Given the description of an element on the screen output the (x, y) to click on. 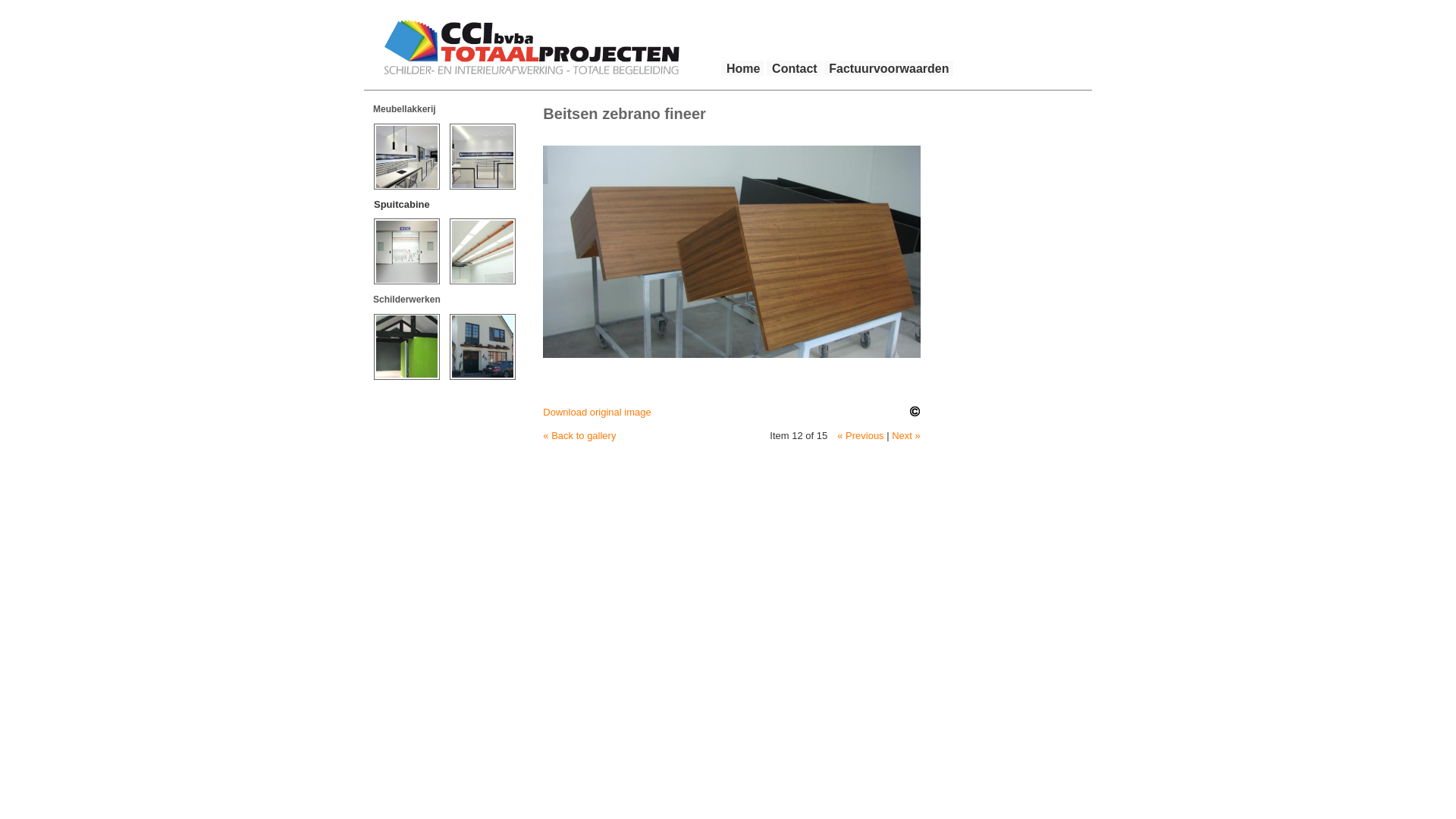
All rights reserved Element type: hover (915, 411)
Schilderwerken Element type: text (406, 299)
Home Element type: text (742, 67)
Meubellakkerij Element type: text (404, 108)
Download original image Element type: text (596, 411)
Home Element type: hover (533, 47)
Factuurvoorwaarden Element type: text (887, 67)
Contact Element type: text (793, 67)
